Given the description of an element on the screen output the (x, y) to click on. 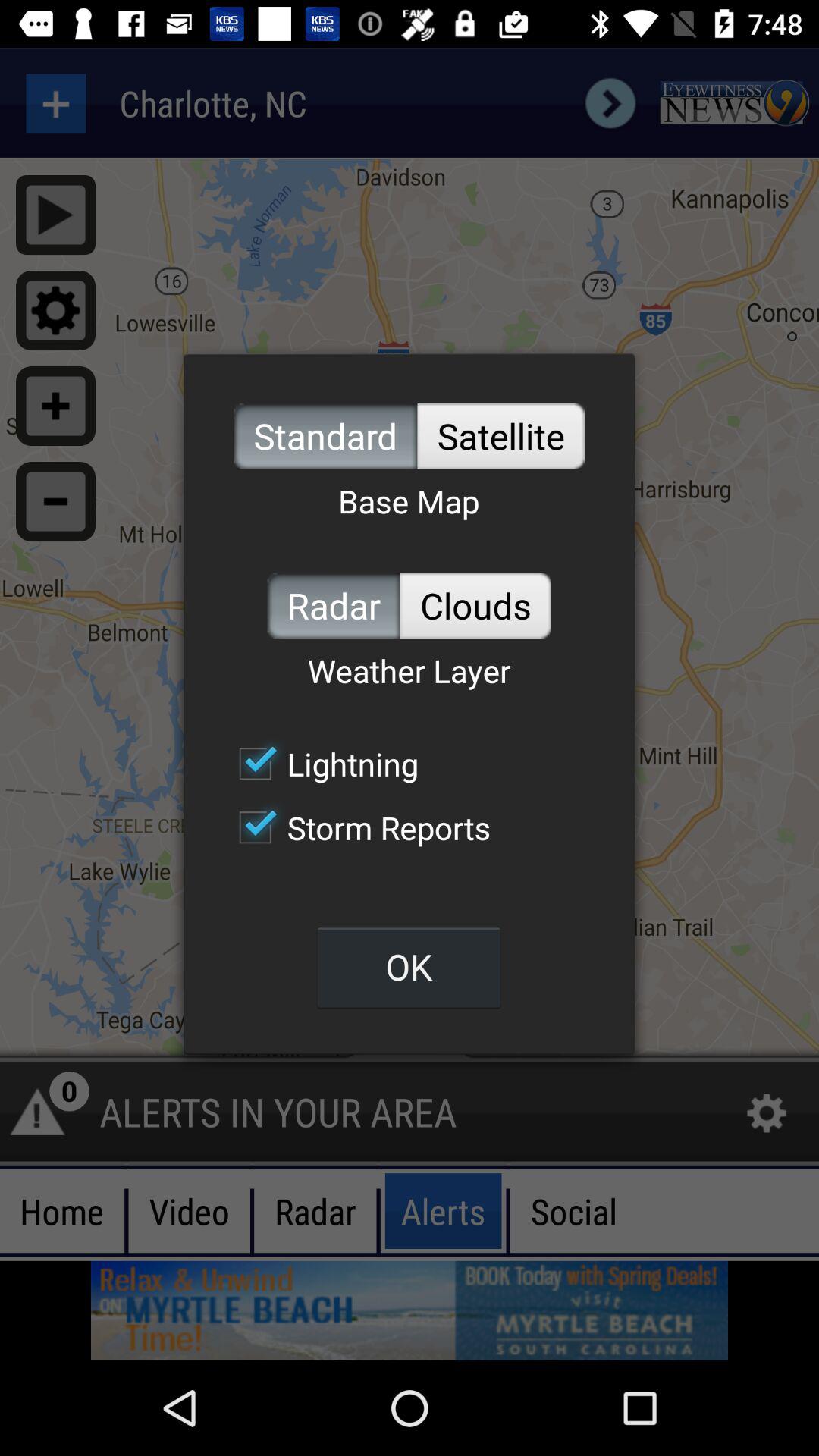
turn off icon below lightning item (356, 827)
